Given the description of an element on the screen output the (x, y) to click on. 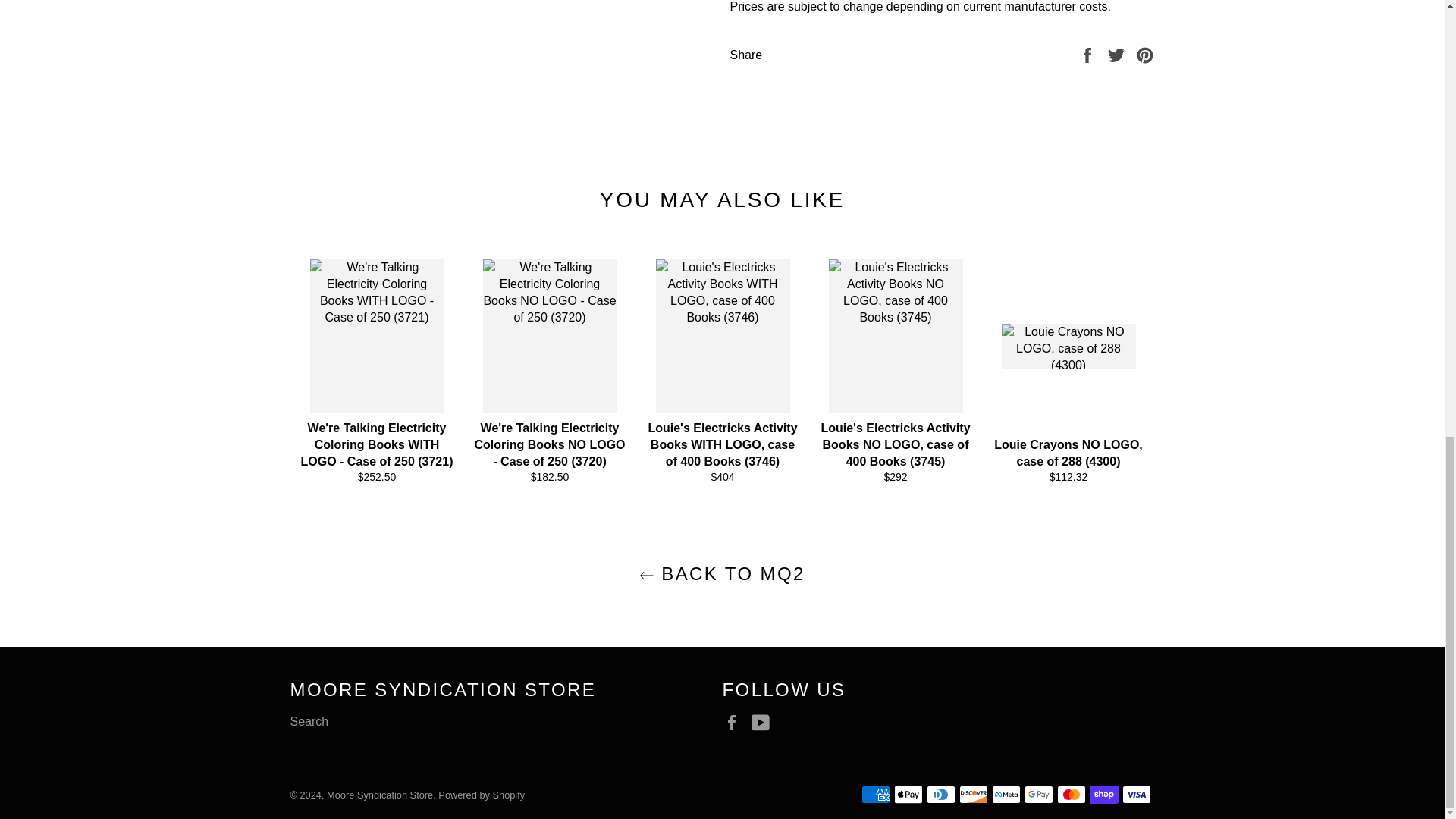
Tweet on Twitter (1117, 54)
Tweet on Twitter (1117, 54)
Moore Syndication Store on Facebook (735, 722)
Search (309, 721)
Share on Facebook (1088, 54)
Share on Facebook (1088, 54)
Pin on Pinterest (1144, 54)
BACK TO MQ2 (721, 573)
Pin on Pinterest (1144, 54)
Moore Syndication Store on YouTube (764, 722)
